Given the description of an element on the screen output the (x, y) to click on. 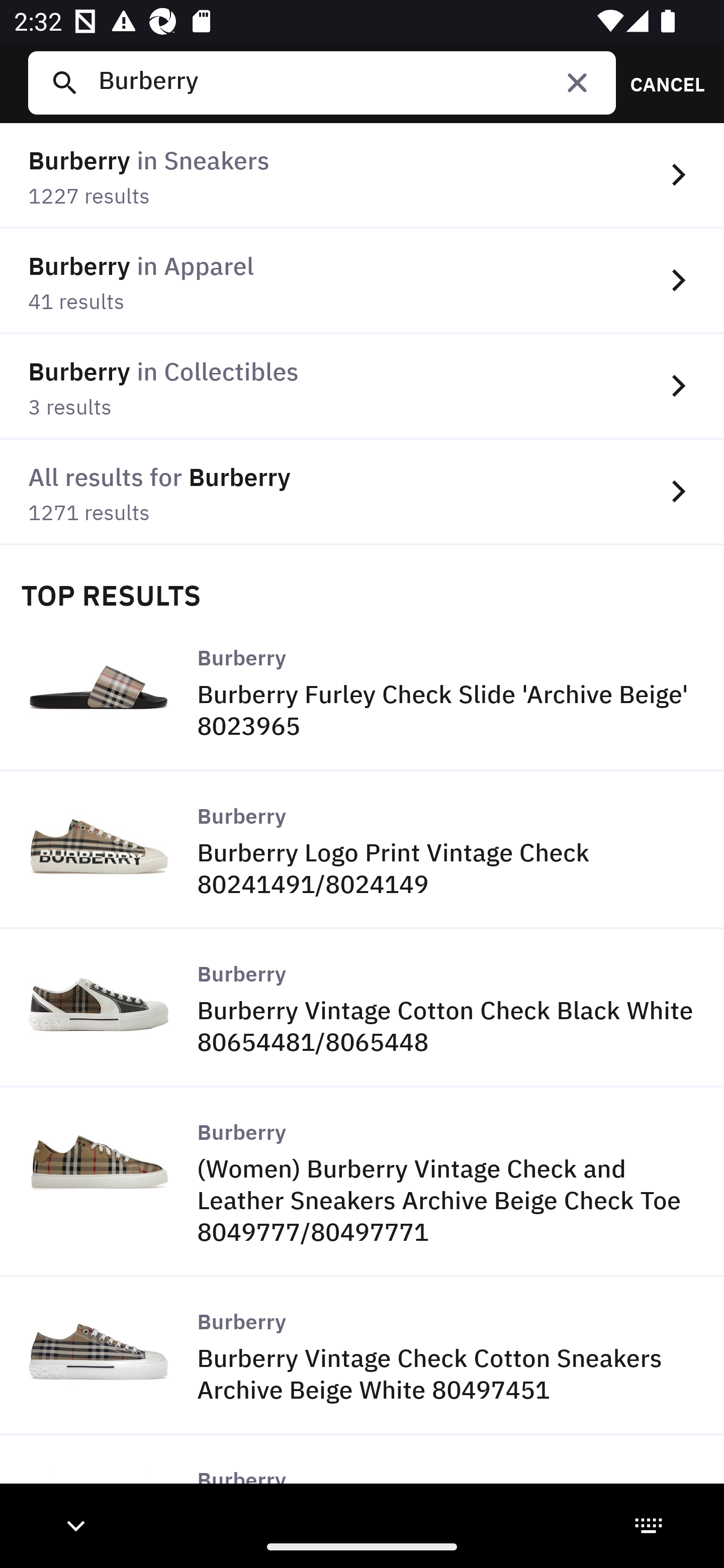
CANCEL (660, 82)
Burberry (349, 82)
 (577, 82)
Burberry  in Sneakers 1227 results  (362, 175)
Burberry  in Apparel 41 results  (362, 280)
Burberry  in Collectibles 3 results  (362, 386)
All results for  Burberry 1271 results  (362, 492)
